Given the description of an element on the screen output the (x, y) to click on. 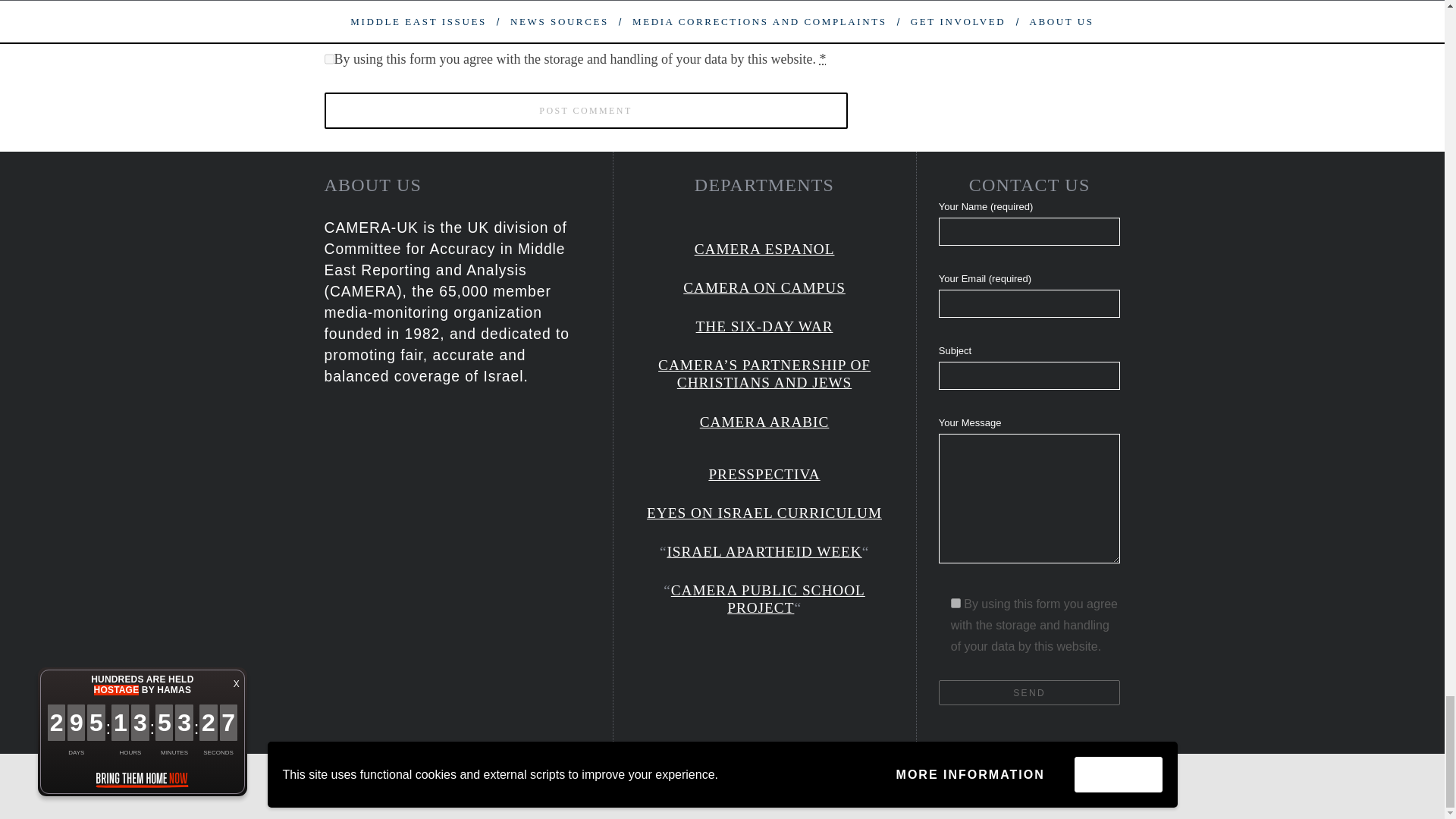
yes (329, 14)
1 (955, 603)
Post Comment (585, 110)
